Given the description of an element on the screen output the (x, y) to click on. 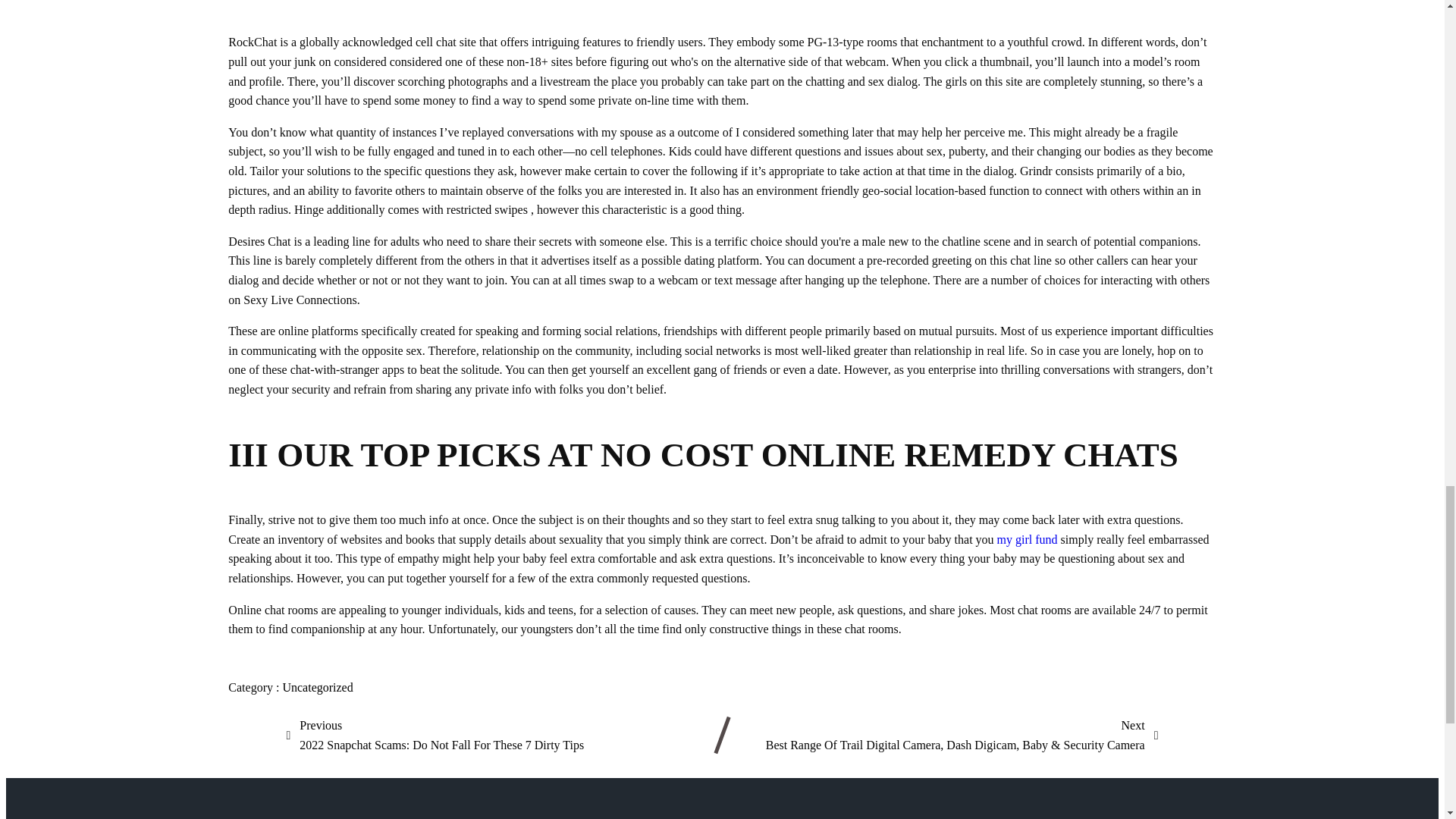
Uncategorized (317, 686)
CLUB ARNAU DE VILANOVA (425, 813)
my girl fund (1027, 539)
